Given the description of an element on the screen output the (x, y) to click on. 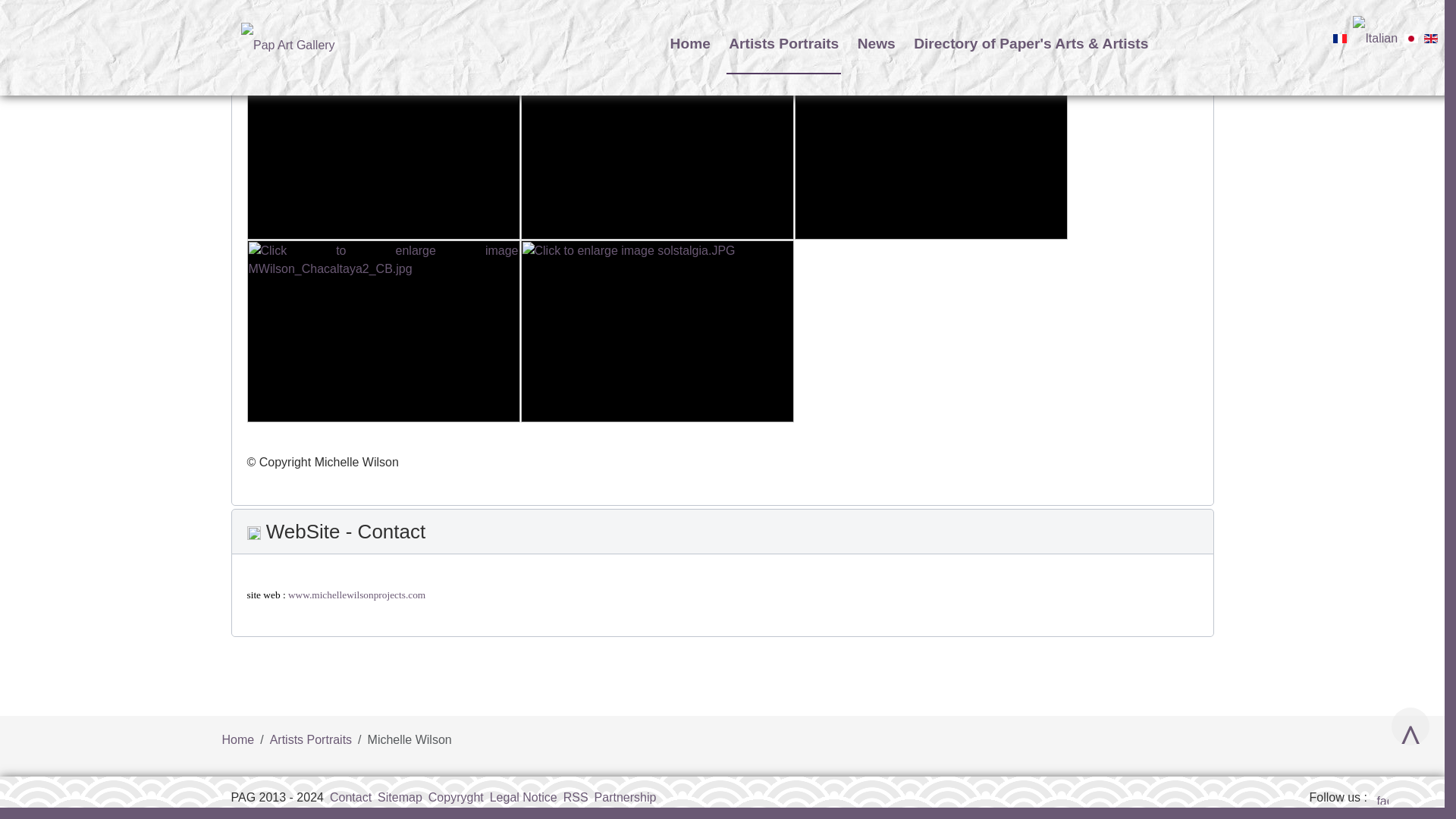
RSS (575, 797)
Contact (350, 797)
Legal Notice (523, 797)
Copyryght (455, 797)
Sitemap (399, 797)
Partnership (625, 797)
Artists Portraits (310, 739)
Home (237, 739)
